Given the description of an element on the screen output the (x, y) to click on. 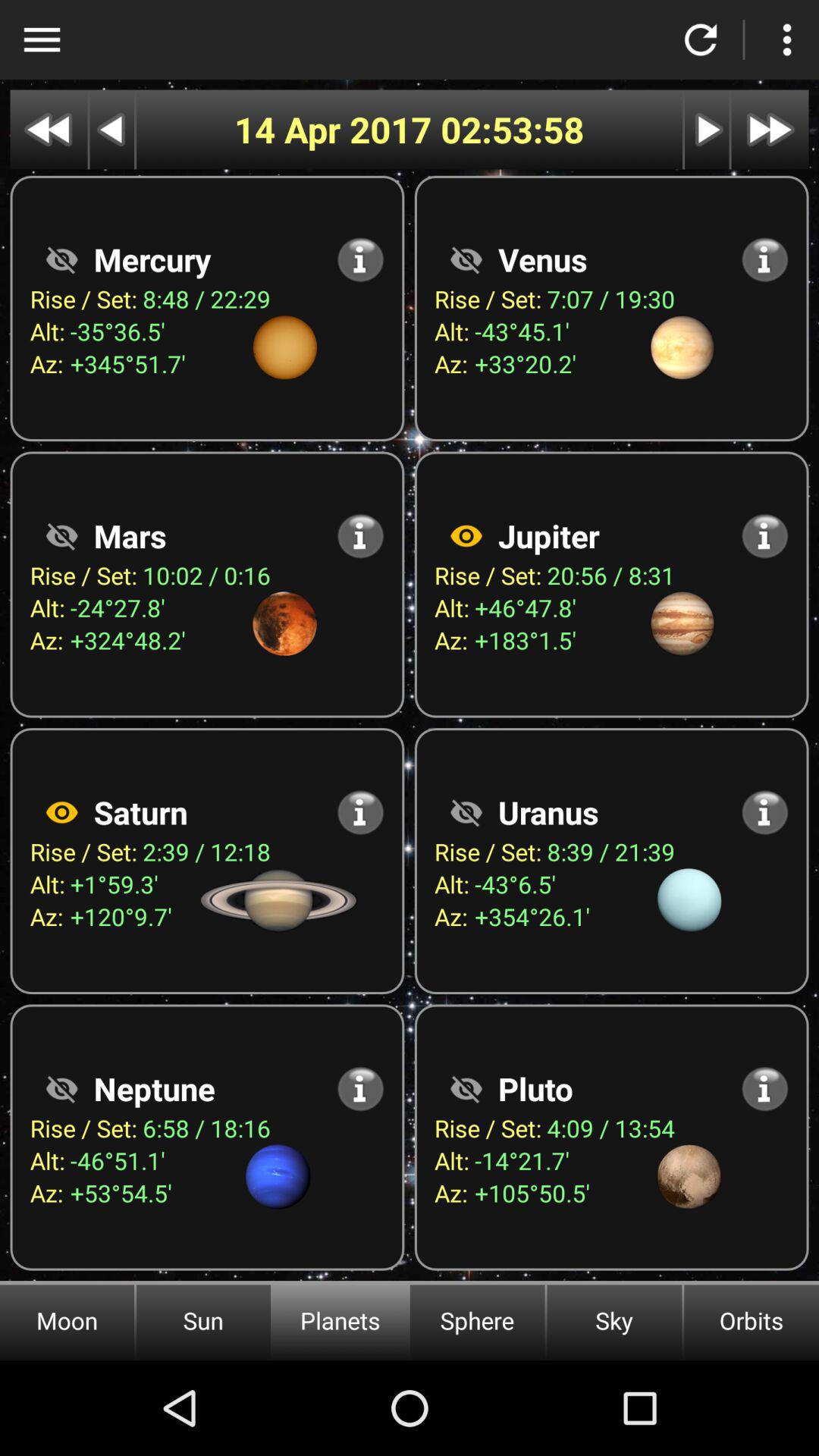
switch the urnaus option (466, 812)
